Given the description of an element on the screen output the (x, y) to click on. 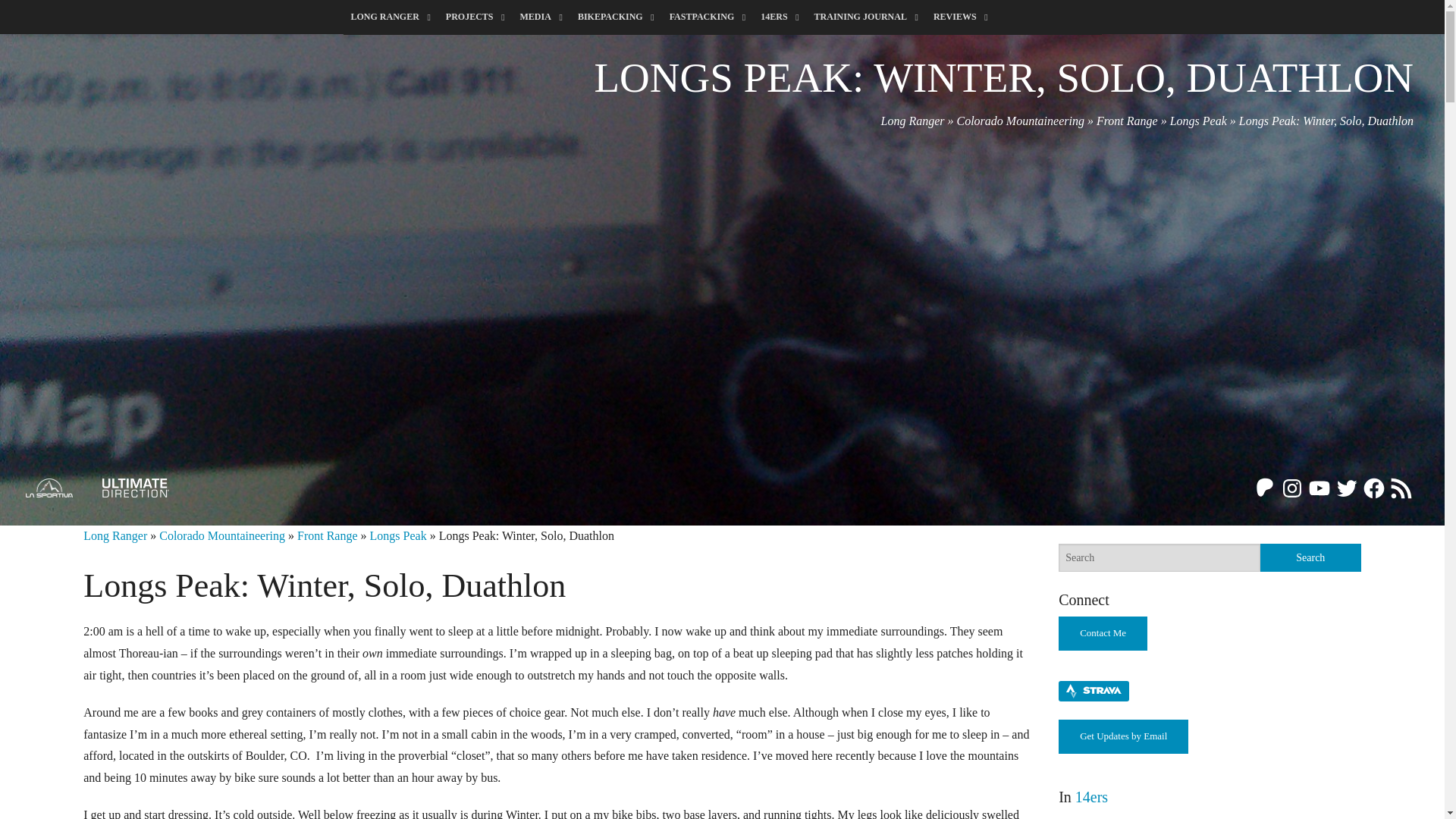
PROJECTS (475, 17)
MEDIA (541, 17)
BIKEPACKING (616, 17)
Search (1310, 557)
LONG RANGER (390, 17)
